Given the description of an element on the screen output the (x, y) to click on. 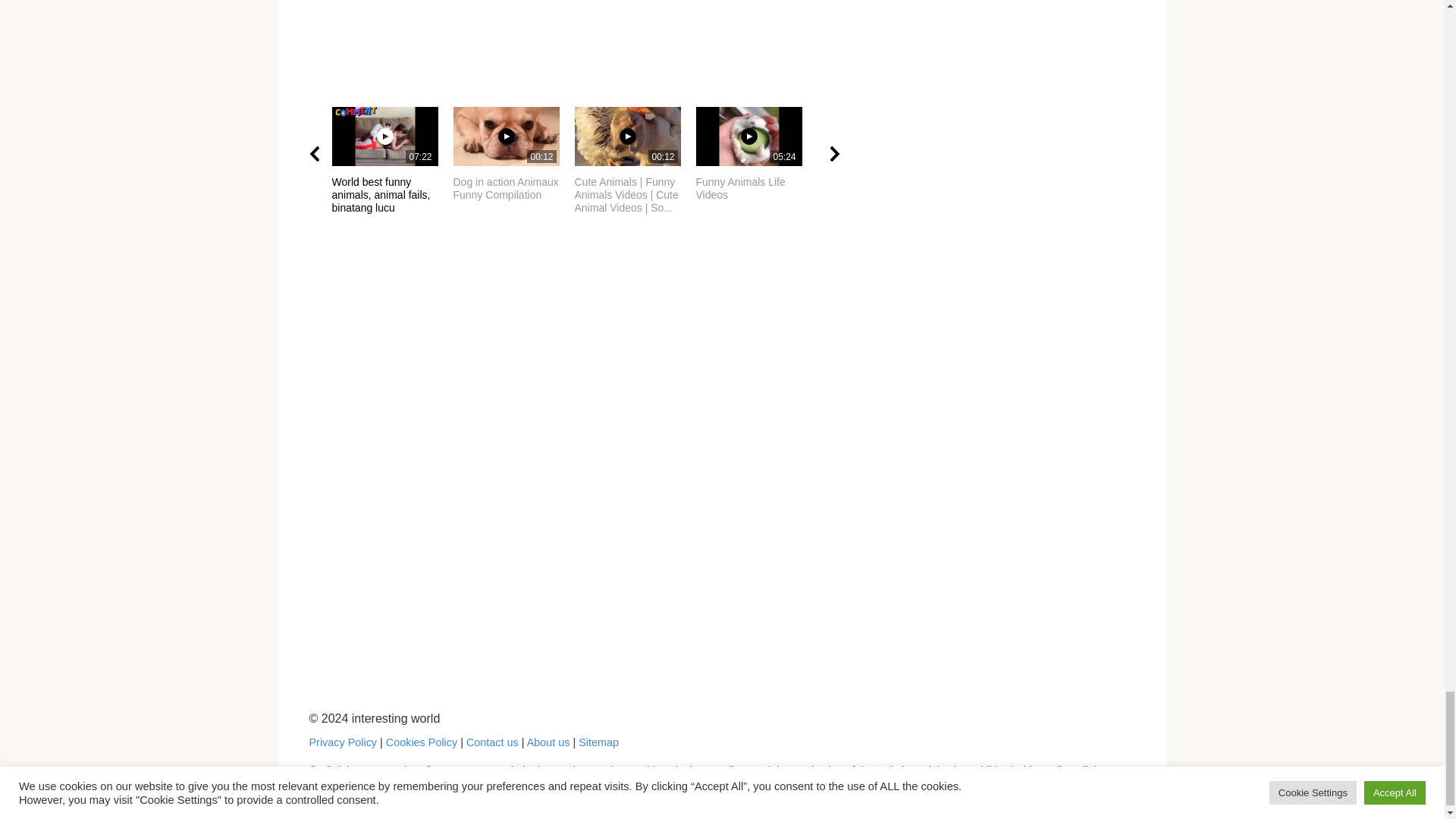
Privacy Policy (342, 742)
About us (548, 742)
Cookies Policy (421, 742)
Sitemap (513, 154)
Contact us (755, 154)
